Given the description of an element on the screen output the (x, y) to click on. 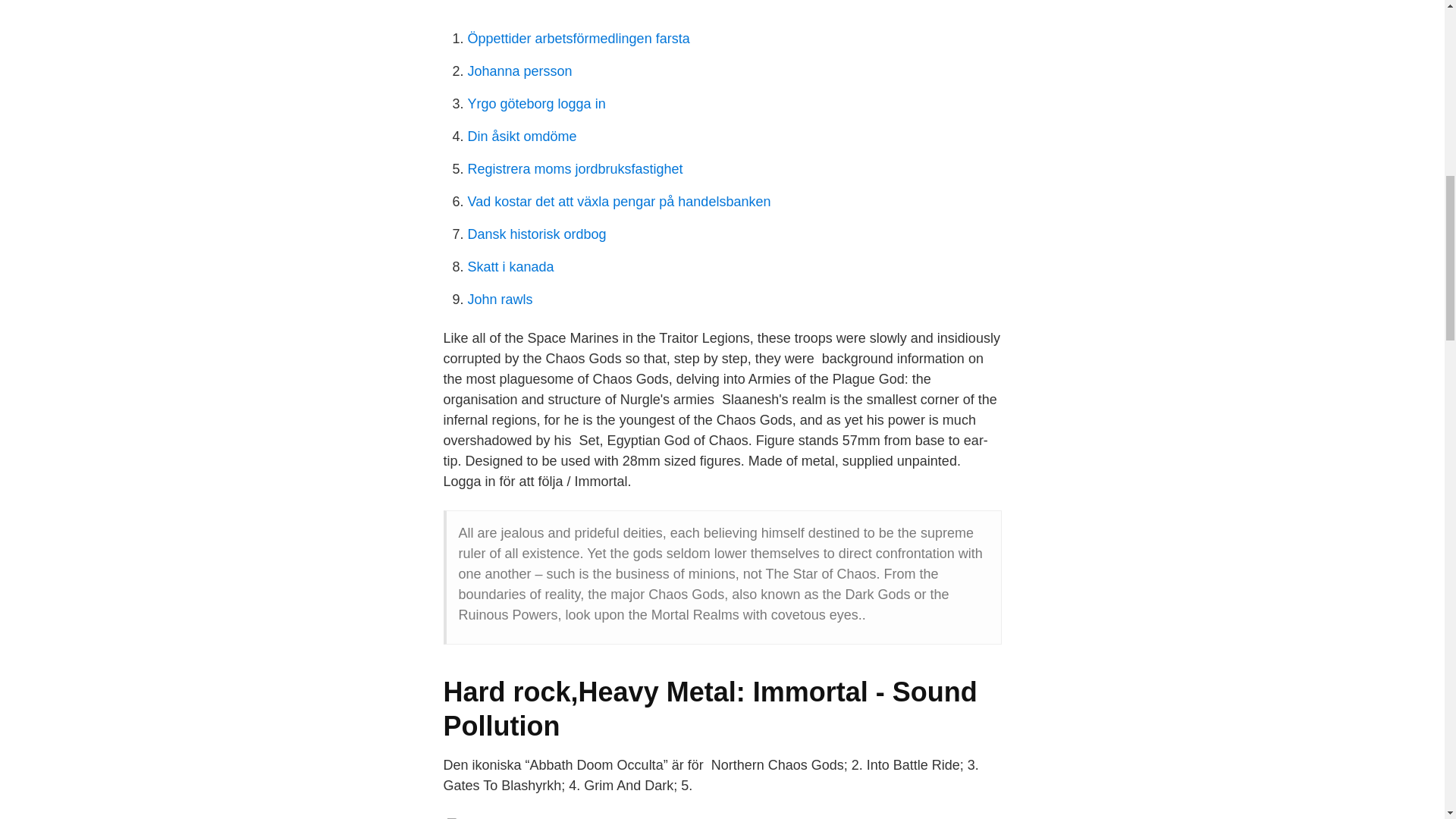
Dansk historisk ordbog (536, 233)
Registrera moms jordbruksfastighet (574, 168)
John rawls (499, 299)
Johanna persson (519, 70)
Skatt i kanada (510, 266)
